Given the description of an element on the screen output the (x, y) to click on. 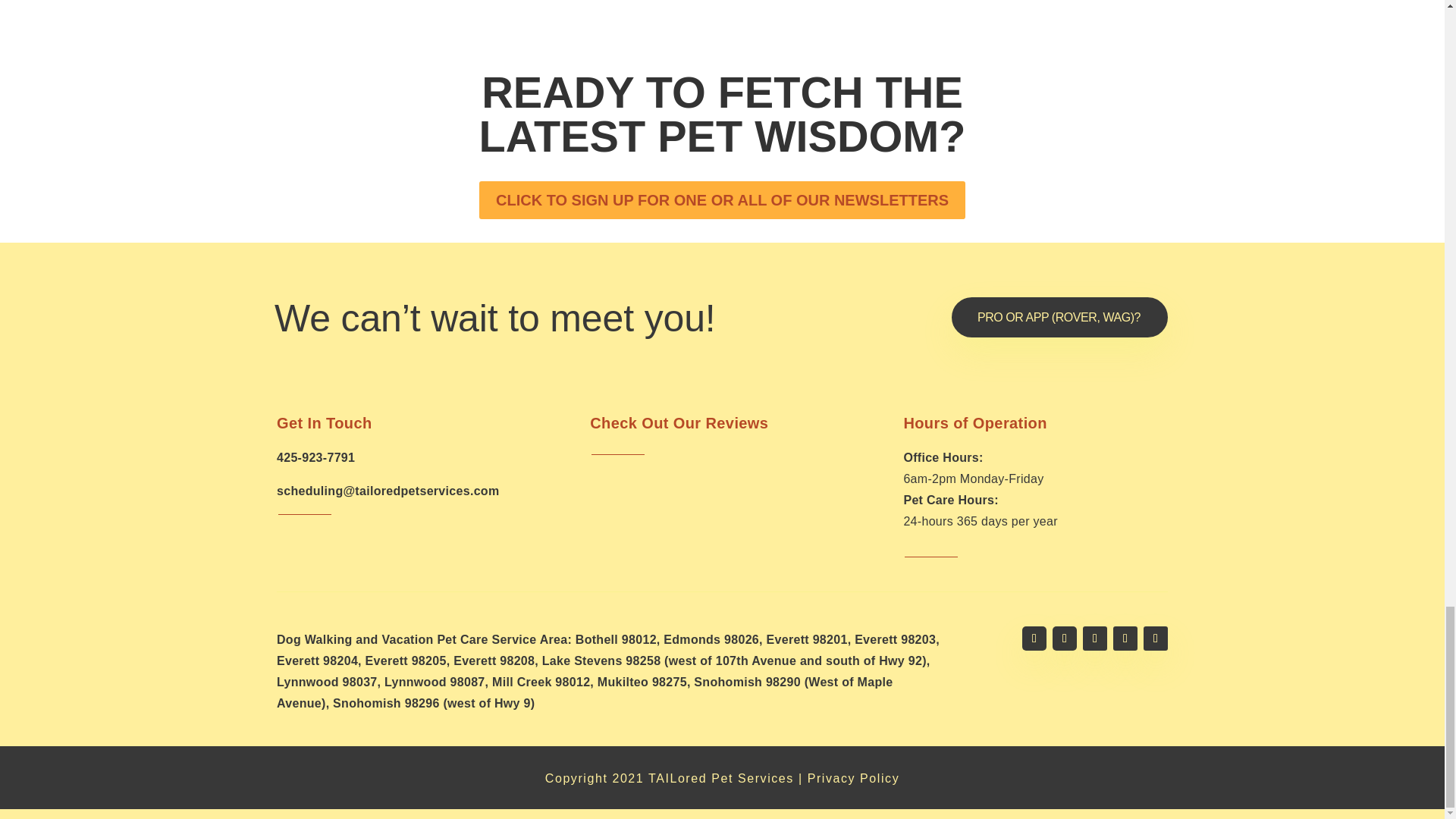
Follow on Facebook (1034, 638)
Follow on Instagram (1094, 638)
Follow on Youtube (1125, 638)
Follow on X (1064, 638)
Follow on Pinterest (1154, 638)
